Given the description of an element on the screen output the (x, y) to click on. 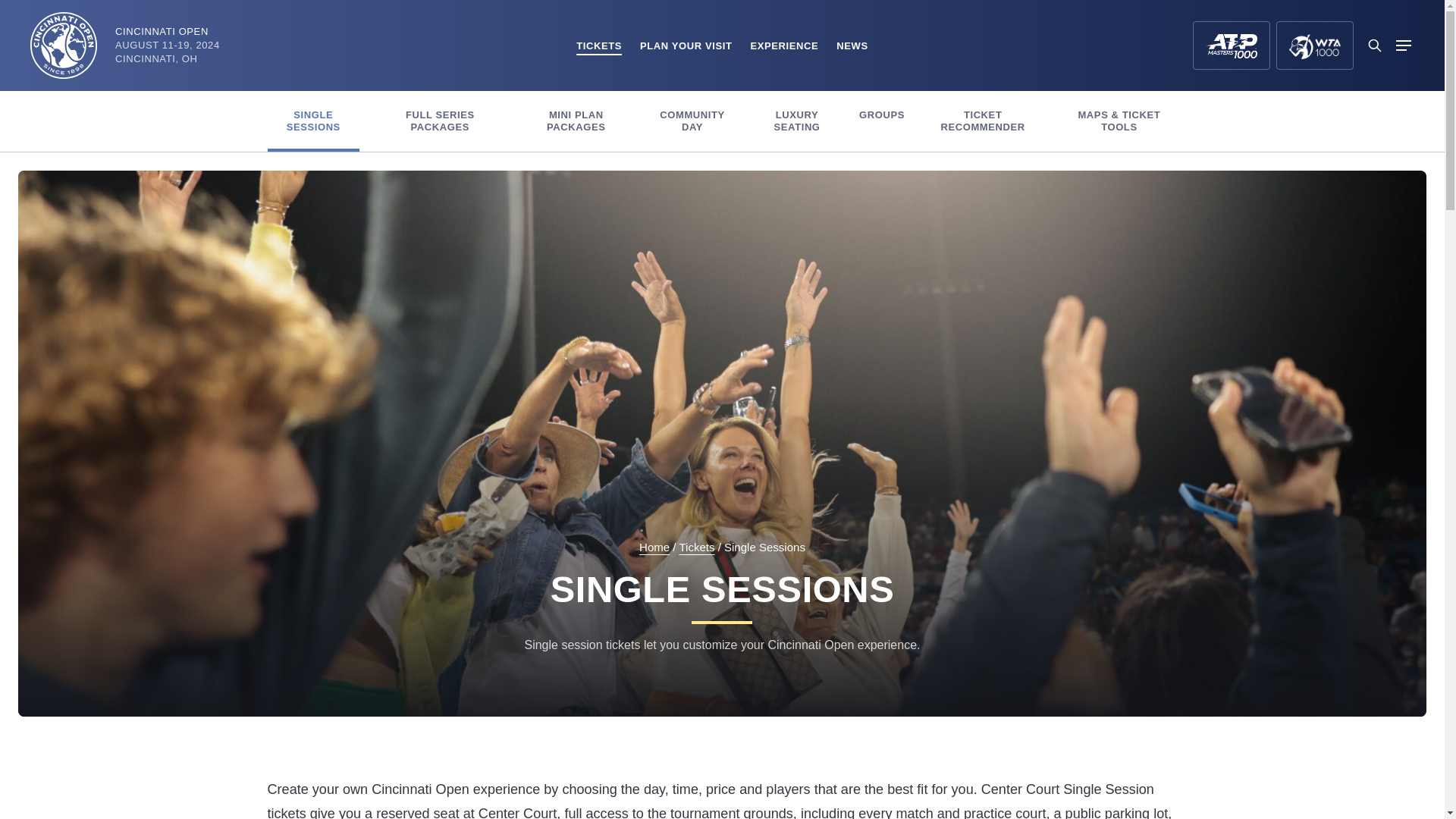
PLAN YOUR VISIT (686, 45)
Cincinnati Open (63, 45)
WTA (1315, 45)
search (1374, 45)
EXPERIENCE (784, 45)
NEWS (851, 45)
TICKETS (598, 45)
ATP (1230, 45)
